Given the description of an element on the screen output the (x, y) to click on. 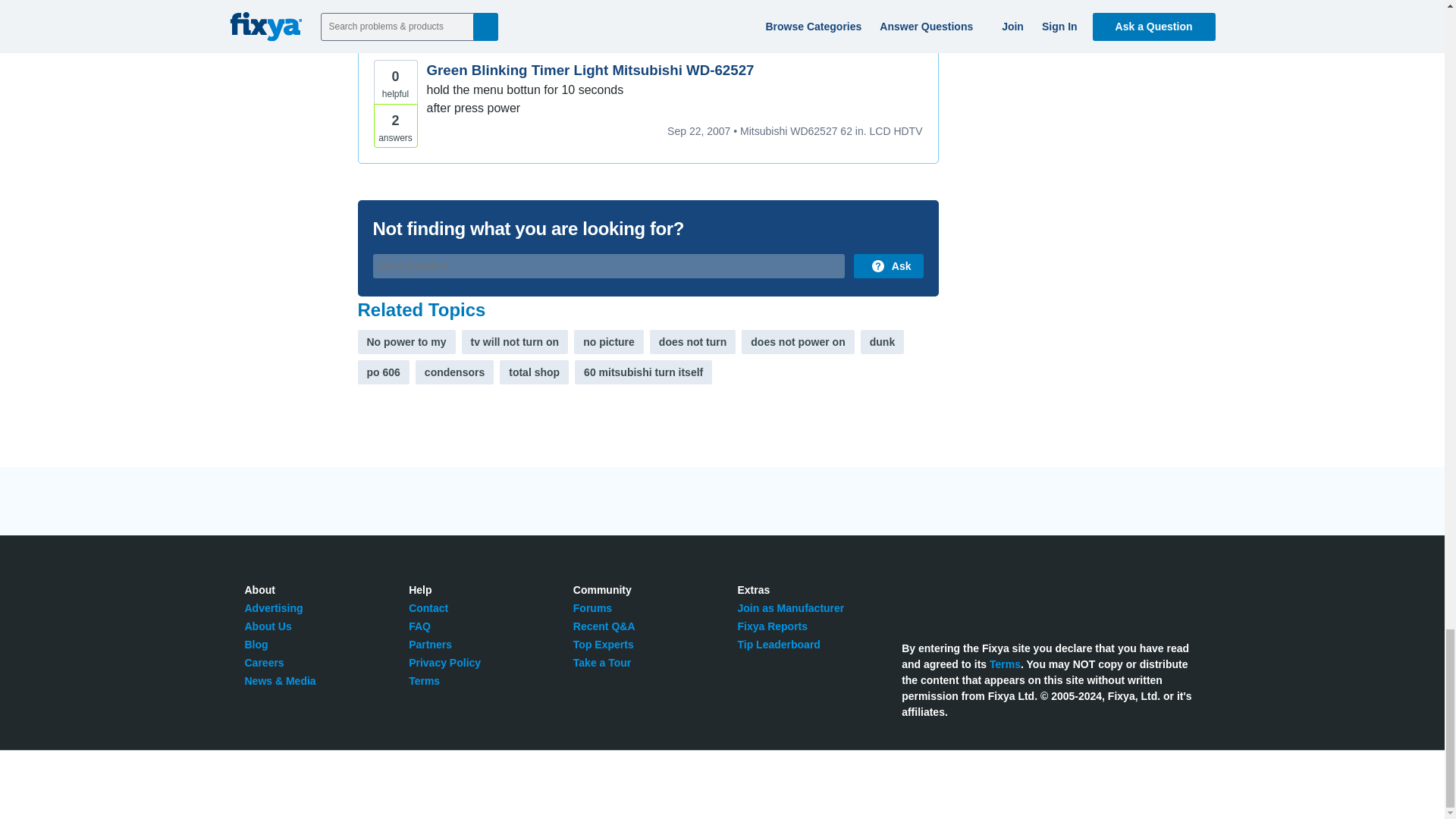
Ask (888, 265)
Follow Fixya on Twitter (910, 597)
